Given the description of an element on the screen output the (x, y) to click on. 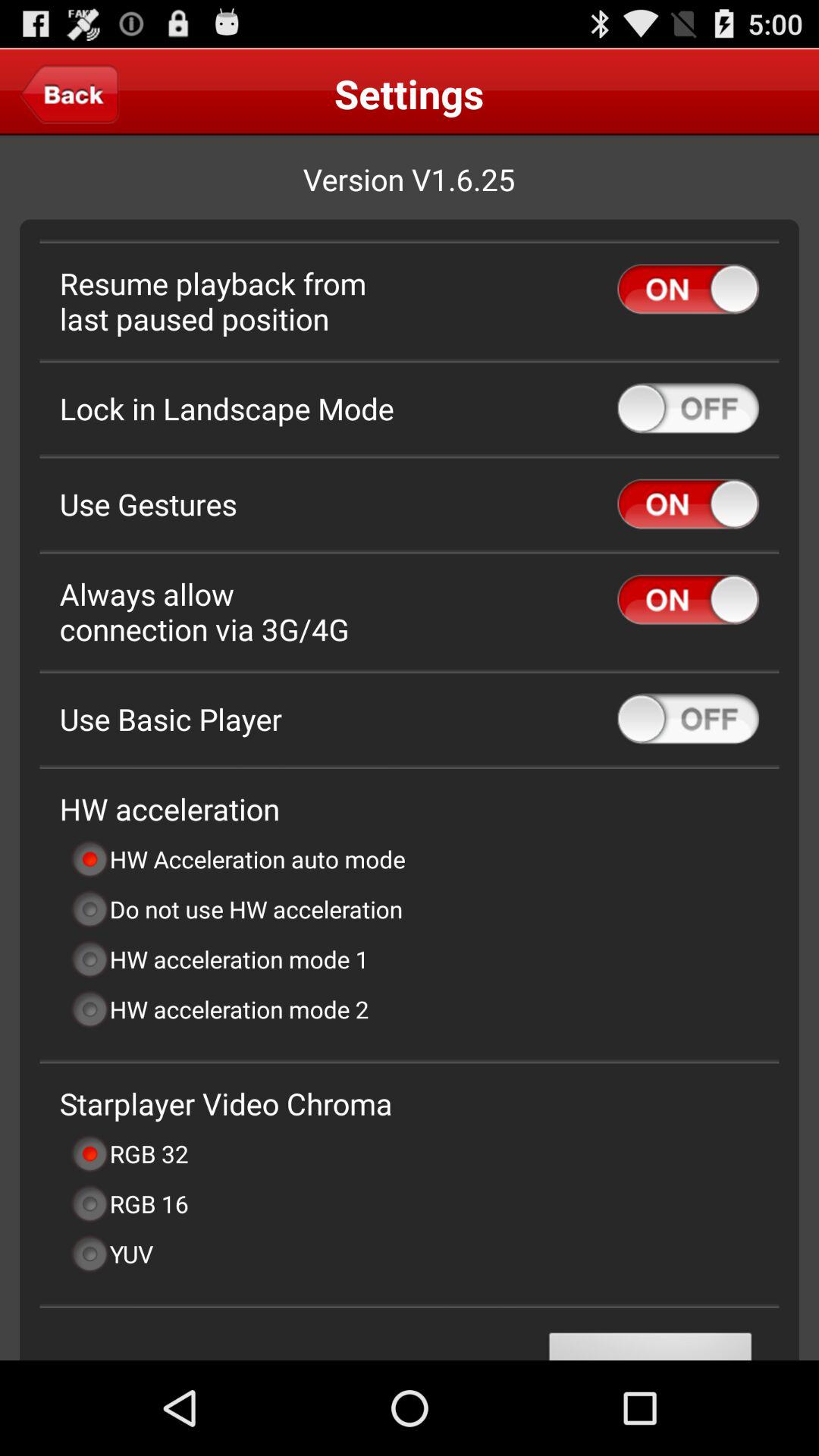
turn on item below the starplayer video chroma item (128, 1153)
